Given the description of an element on the screen output the (x, y) to click on. 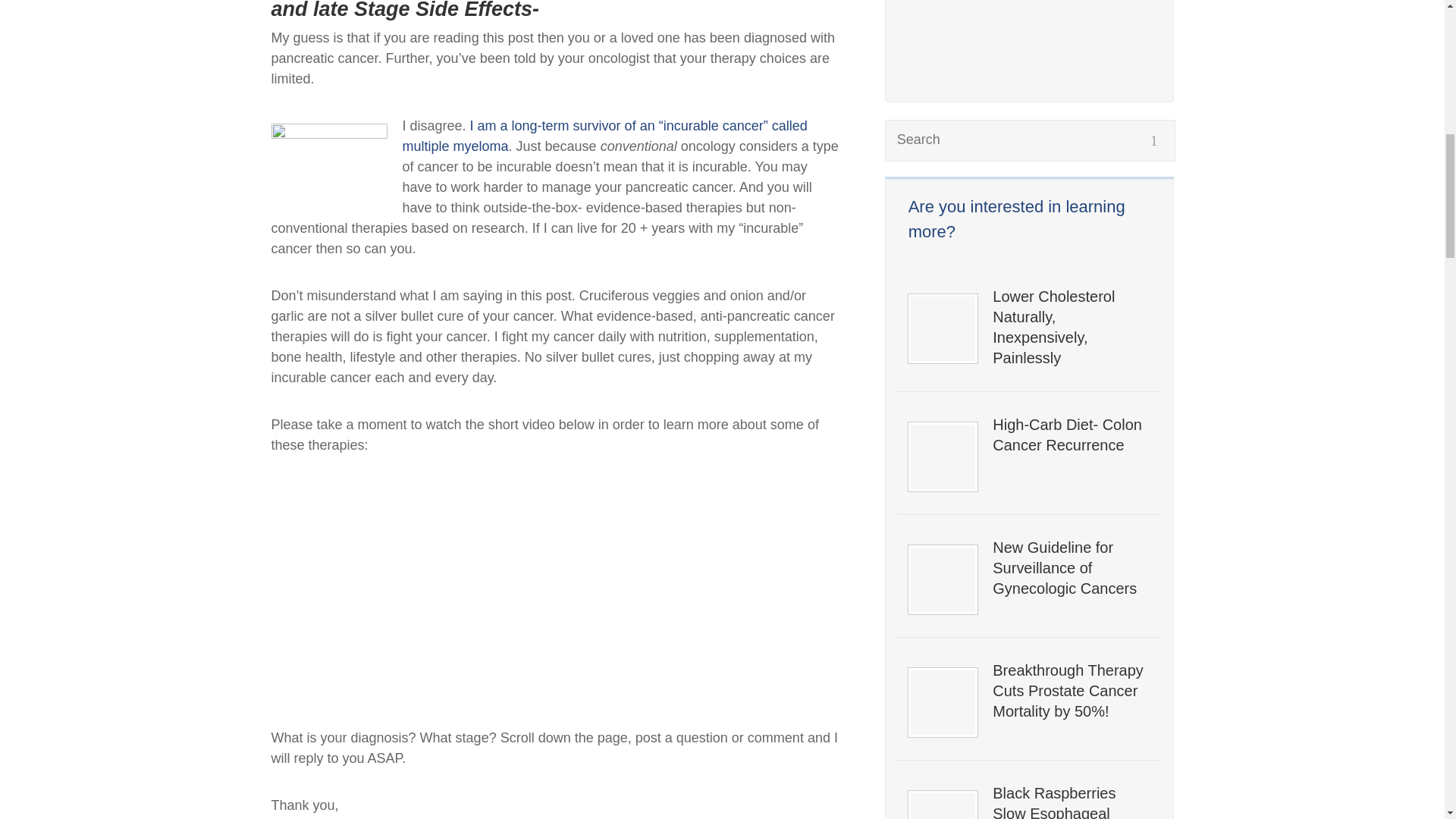
Lower Cholesterol Naturally, Inexpensively, Painlessly (1071, 327)
High-Carb Diet- Colon Cancer Recurrence (1071, 434)
New Guideline for Surveillance of Gynecologic Cancers (1071, 567)
Black Raspberries Slow Esophageal Cancer (1071, 800)
Managing Pancreatic Cancer with Evidence-based Therapies (460, 588)
